Given the description of an element on the screen output the (x, y) to click on. 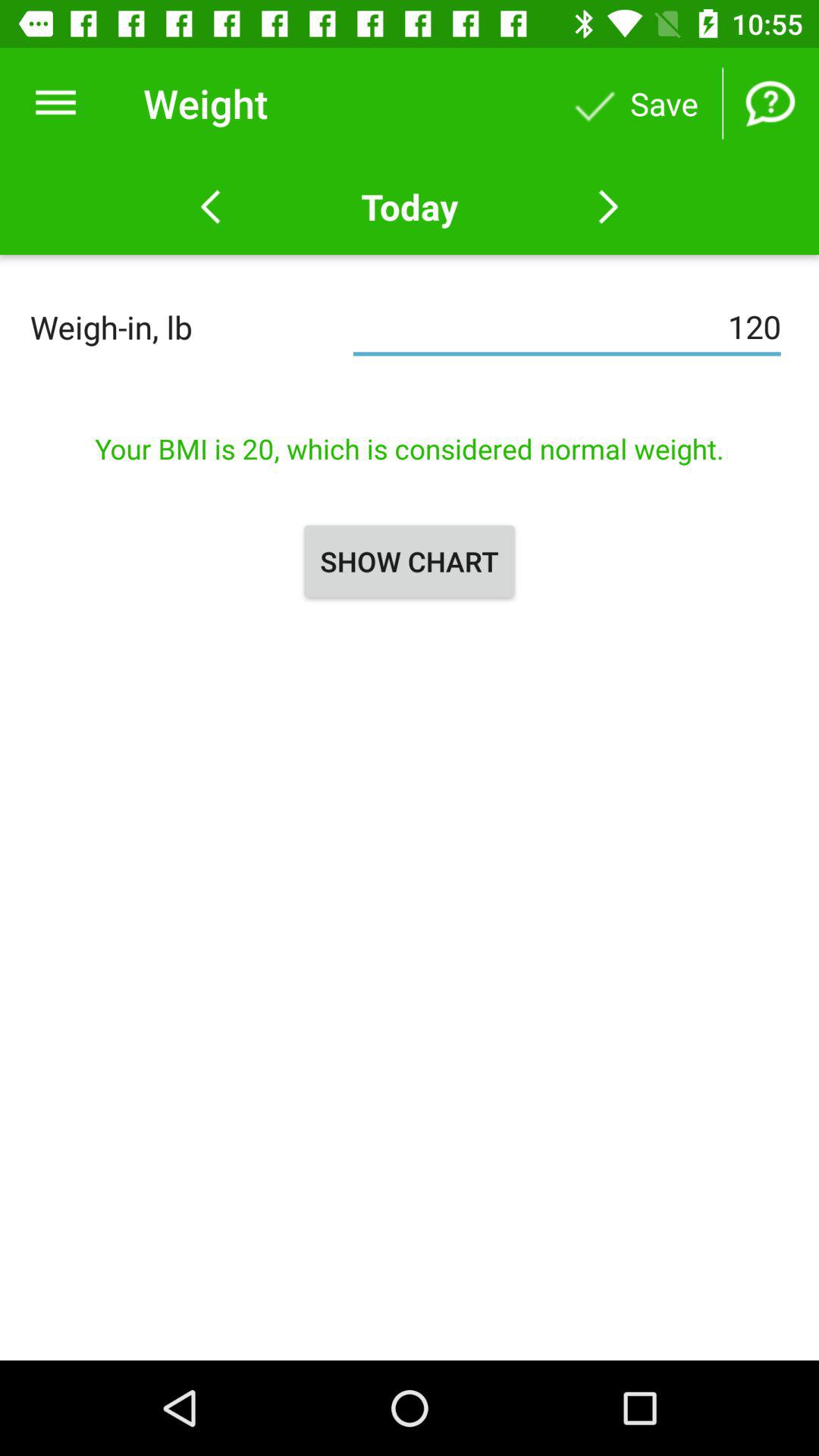
jump to today (409, 206)
